Given the description of an element on the screen output the (x, y) to click on. 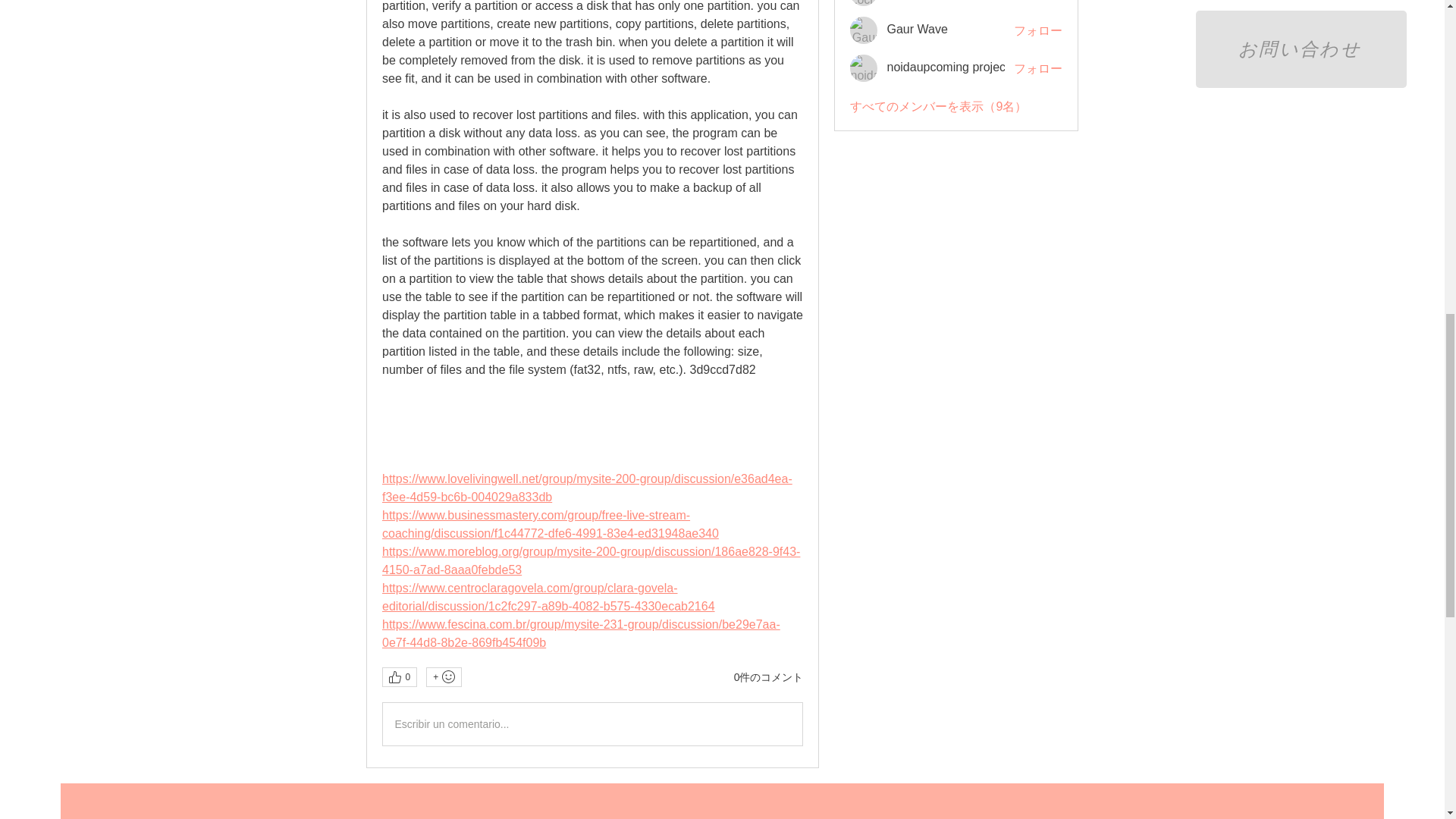
noidaupcoming project (863, 67)
Gaur Wave (863, 30)
Escribir un comentario... (591, 723)
Locna Broa (863, 2)
